Given the description of an element on the screen output the (x, y) to click on. 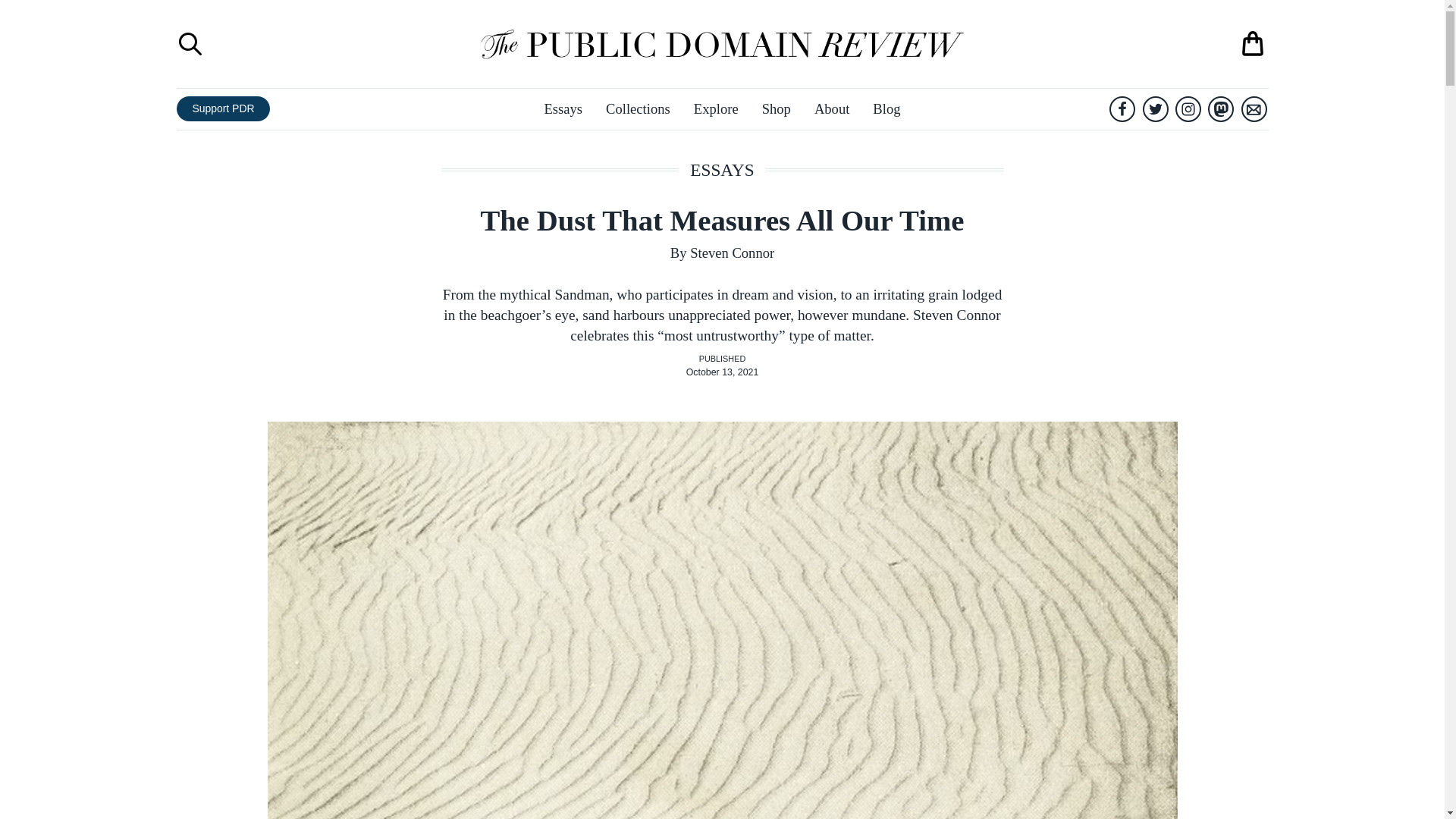
About (830, 108)
ESSAYS (721, 169)
Collections (637, 108)
Explore (716, 108)
Shop (775, 108)
Blog (885, 108)
Essays (562, 108)
Support PDR (222, 108)
Steven Connor (732, 252)
